Given the description of an element on the screen output the (x, y) to click on. 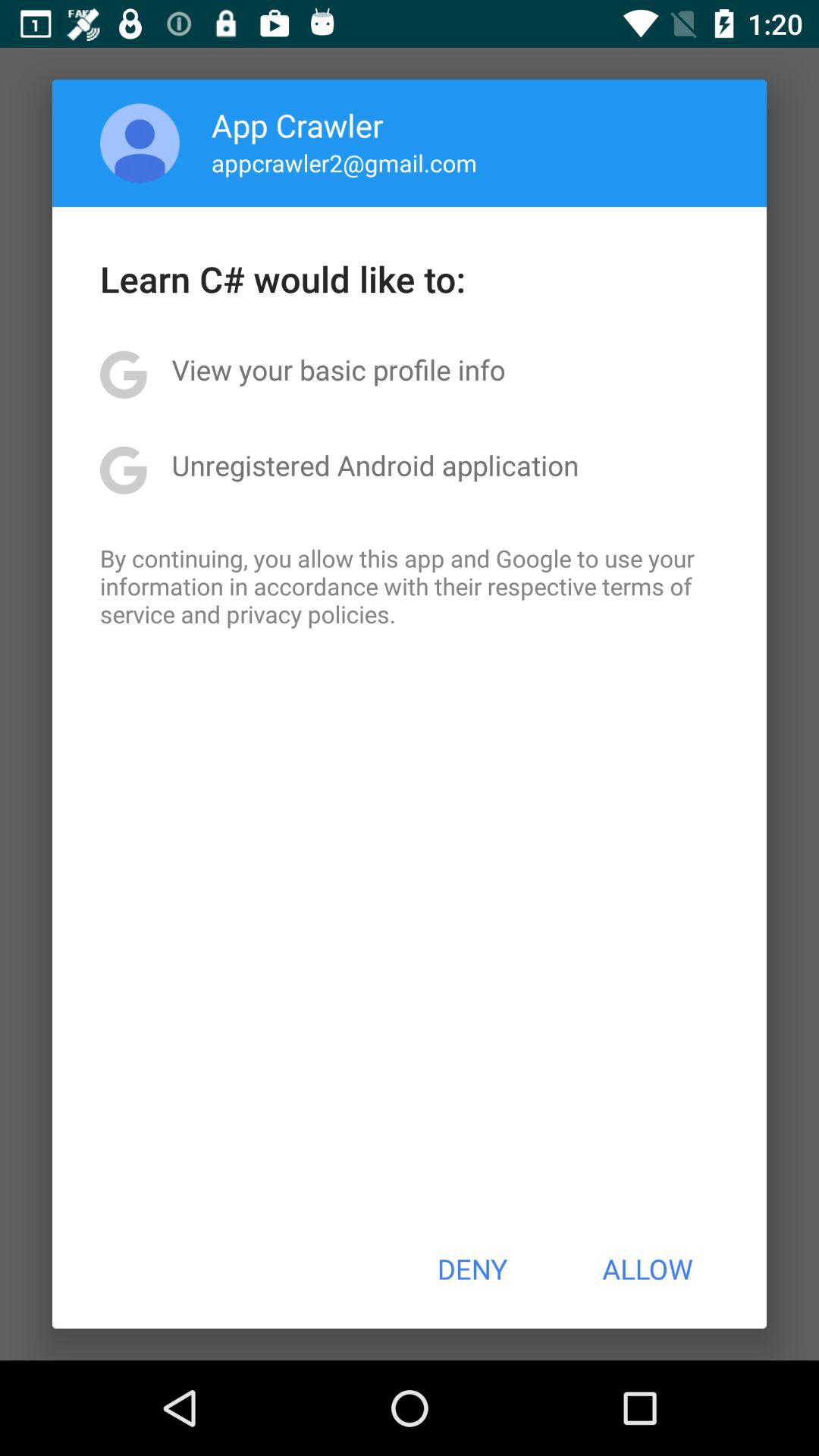
click view your basic icon (338, 369)
